Given the description of an element on the screen output the (x, y) to click on. 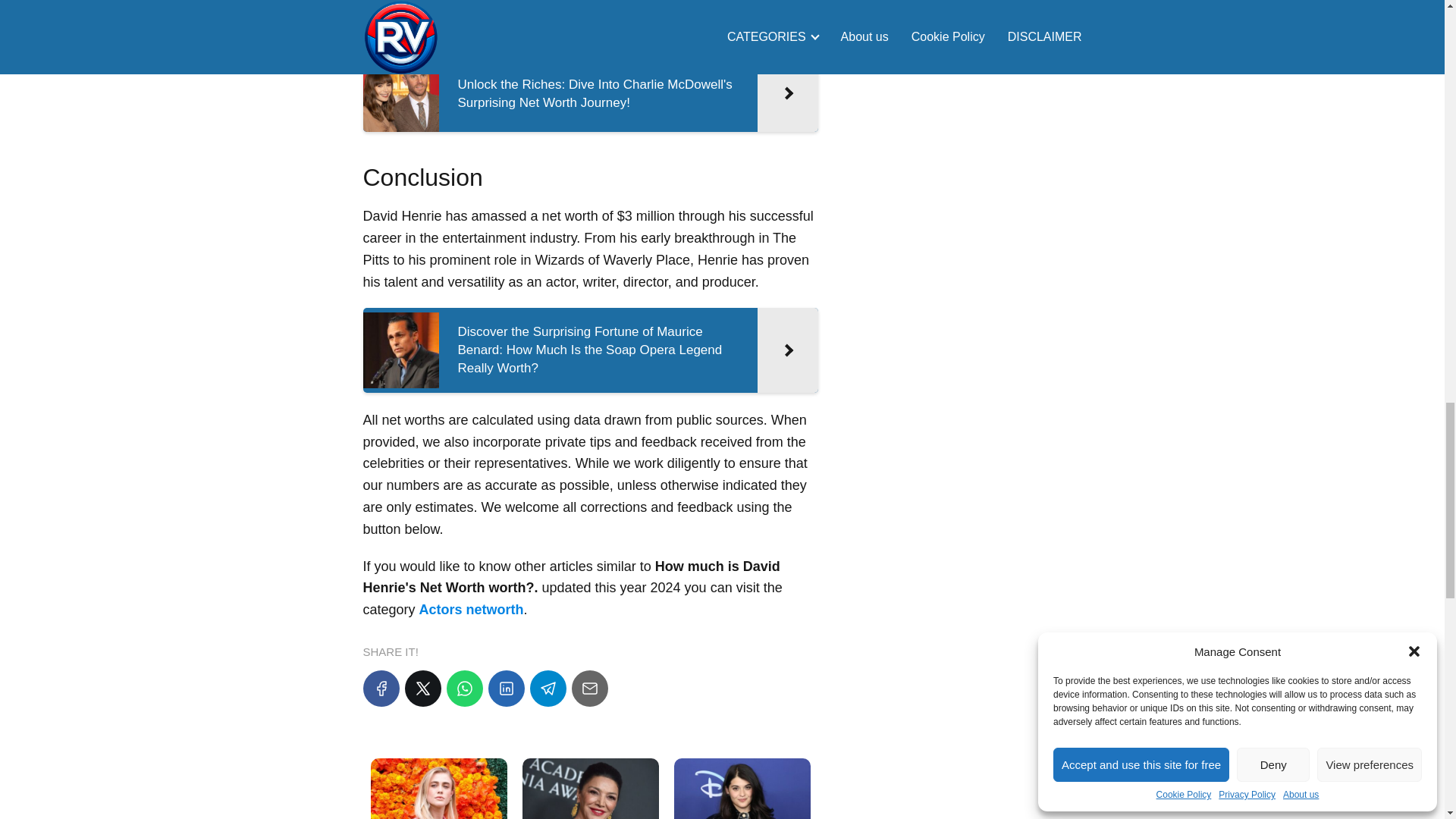
Telegram (547, 688)
WhatsApp (463, 688)
Facebook (380, 688)
Email (590, 688)
LinkedIn (505, 688)
X (422, 688)
